Given the description of an element on the screen output the (x, y) to click on. 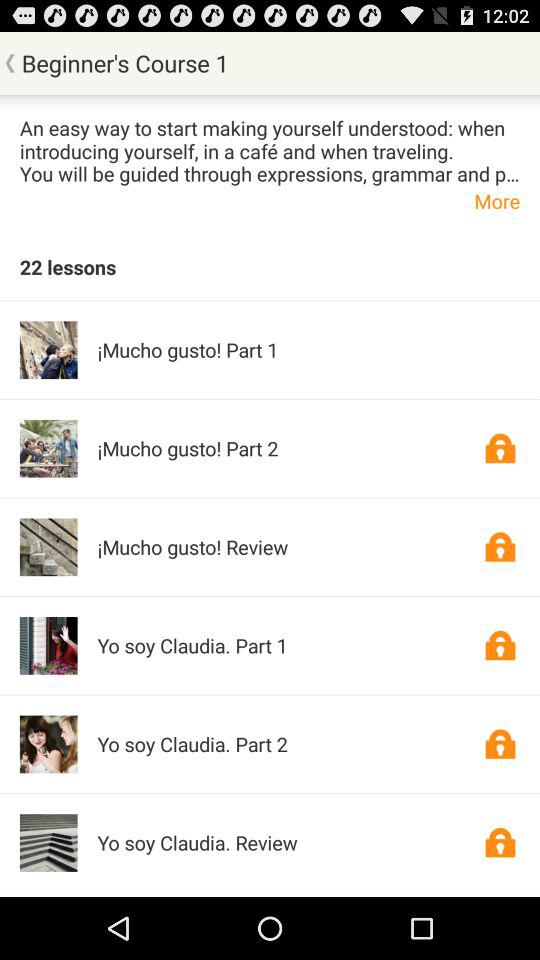
premium content (500, 448)
